Given the description of an element on the screen output the (x, y) to click on. 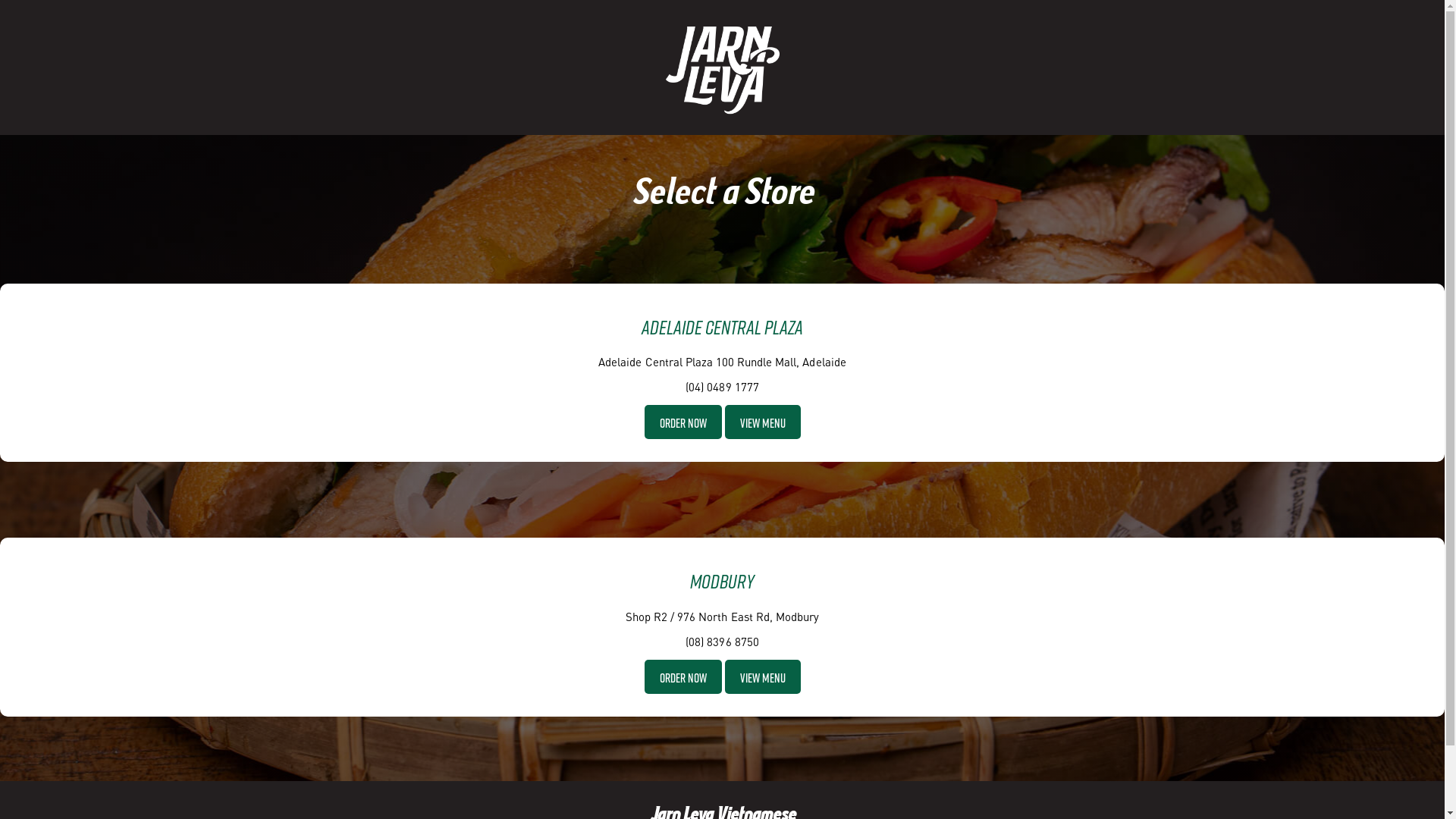
ORDER NOW Element type: text (682, 676)
VIEW MENU Element type: text (762, 421)
VIEW MENU Element type: text (762, 678)
VIEW MENU Element type: text (762, 676)
ORDER NOW Element type: text (682, 678)
VIEW MENU Element type: text (762, 424)
ORDER NOW Element type: text (682, 424)
ORDER NOW Element type: text (682, 421)
Jarn Leva Vietnamese Element type: hover (722, 65)
